Given the description of an element on the screen output the (x, y) to click on. 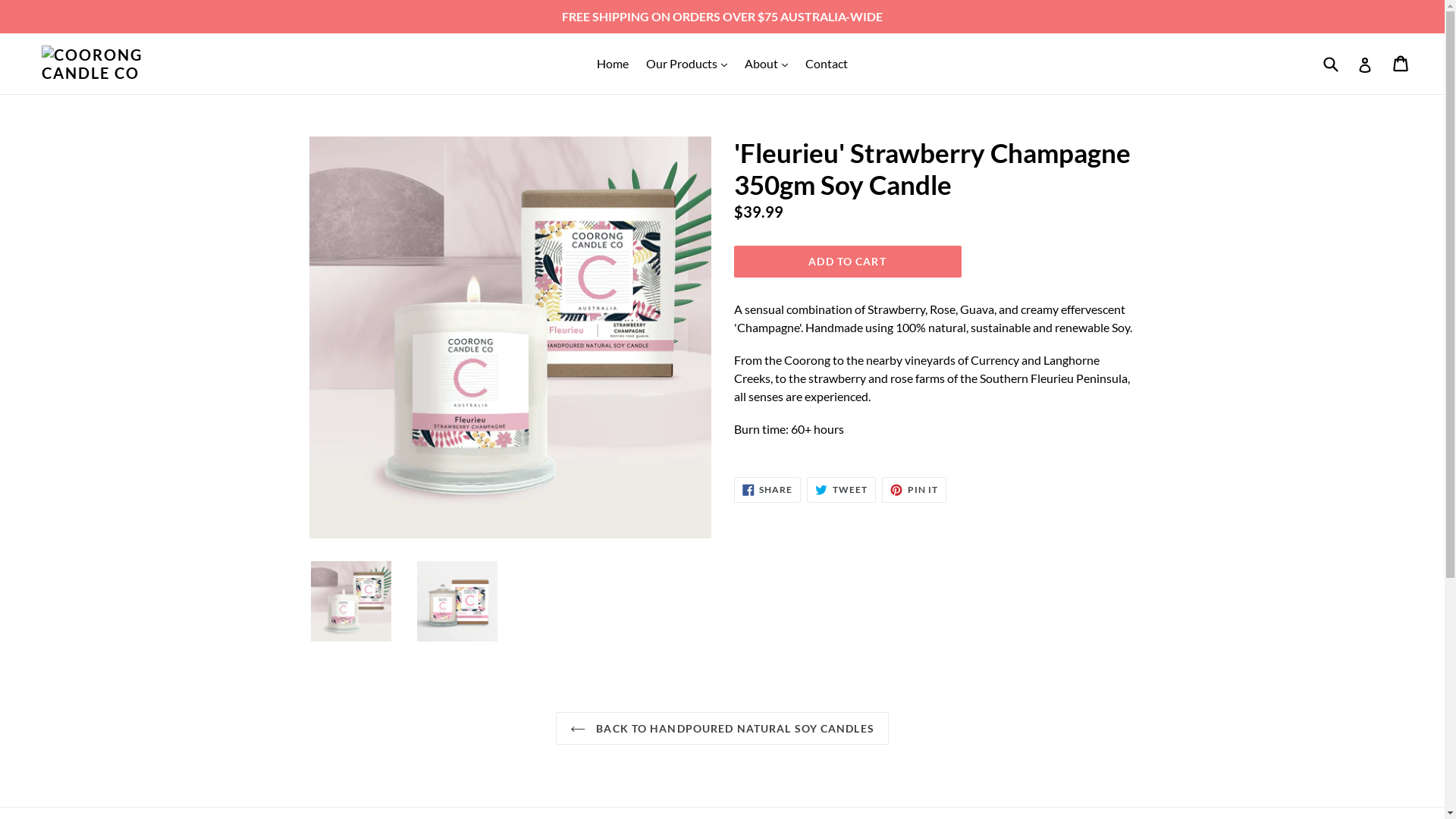
PIN IT
PIN ON PINTEREST Element type: text (913, 489)
Cart
Cart Element type: text (1401, 63)
ADD TO CART Element type: text (847, 261)
Submit Element type: text (1329, 62)
Home Element type: text (612, 63)
Log in Element type: text (1364, 63)
Contact Element type: text (826, 63)
TWEET
TWEET ON TWITTER Element type: text (840, 489)
BACK TO HANDPOURED NATURAL SOY CANDLES Element type: text (721, 727)
SHARE
SHARE ON FACEBOOK Element type: text (767, 489)
